Given the description of an element on the screen output the (x, y) to click on. 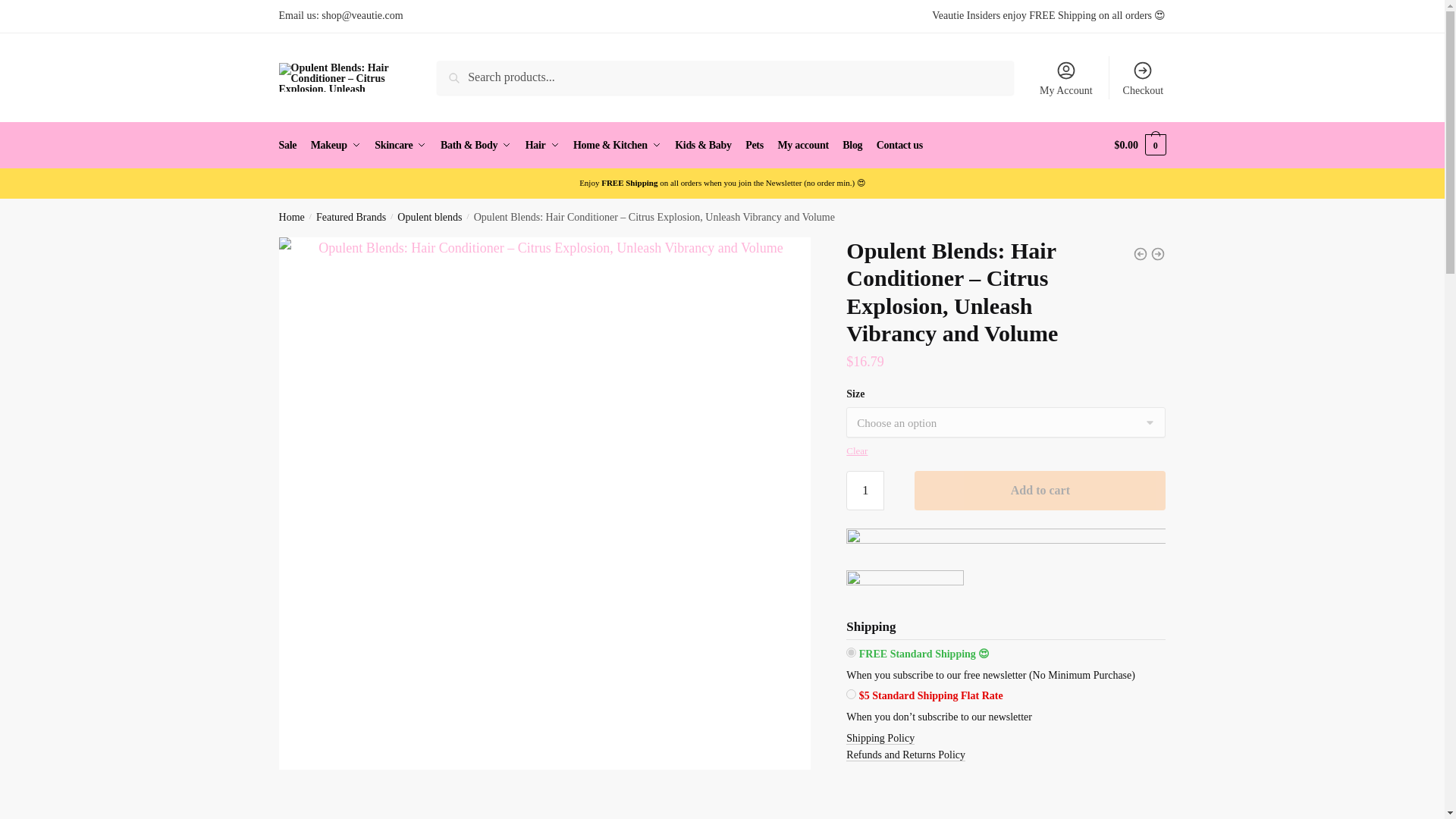
opt-in (850, 652)
My Account (1066, 77)
Checkout (1142, 77)
1 (864, 490)
opt-out (850, 694)
View your shopping cart (1140, 145)
Skincare (399, 145)
Search (466, 75)
Makeup (335, 145)
